Given the description of an element on the screen output the (x, y) to click on. 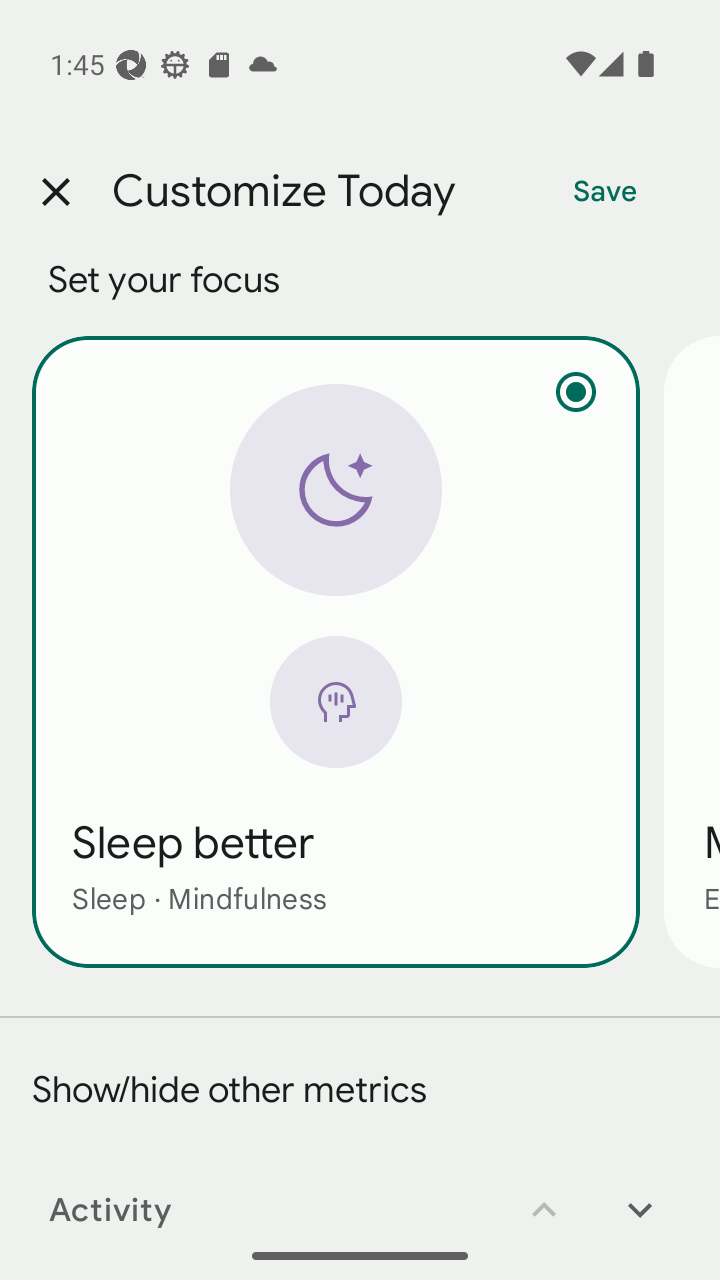
Close (55, 191)
Save (605, 191)
Sleep better Sleep · Mindfulness (335, 651)
Move Activity up (543, 1196)
Move Activity down (639, 1196)
